Given the description of an element on the screen output the (x, y) to click on. 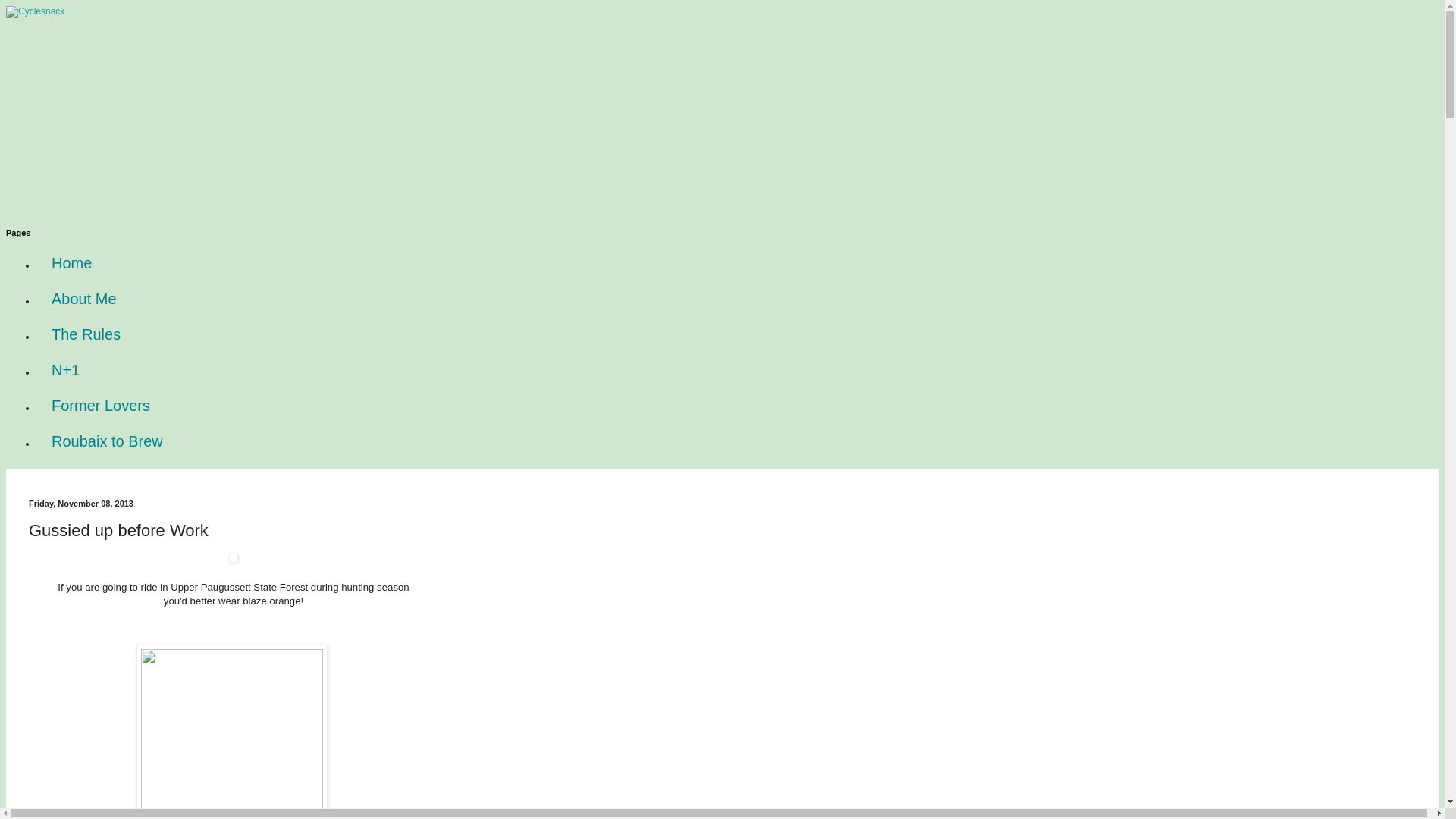
Home (71, 263)
Roubaix to Brew (106, 441)
Former Lovers (100, 406)
The Rules (85, 334)
About Me (84, 298)
